Given the description of an element on the screen output the (x, y) to click on. 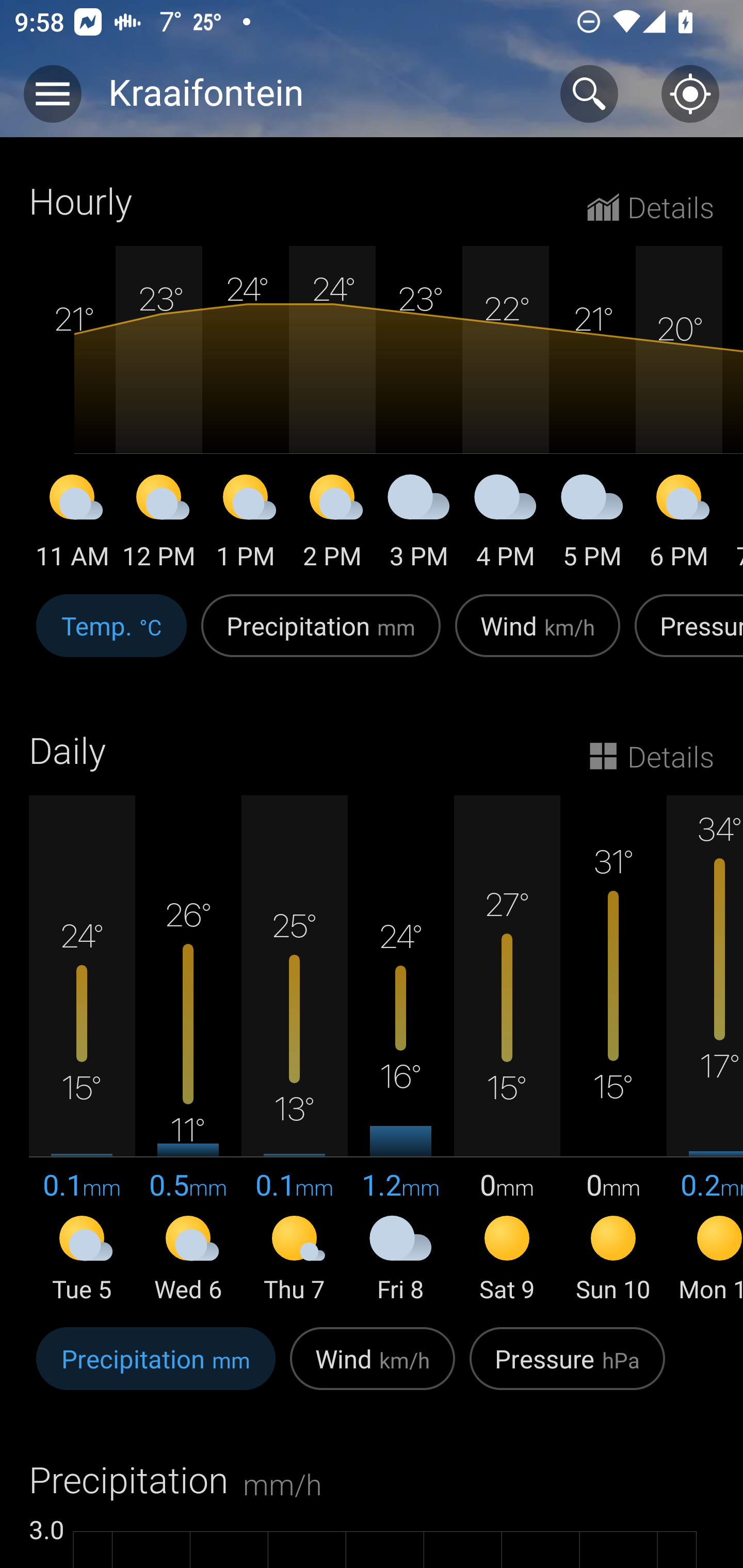
11 AM (71, 524)
12 PM (158, 524)
1 PM (245, 524)
2 PM (332, 524)
3 PM (418, 524)
4 PM (505, 524)
5 PM (592, 524)
6 PM (679, 524)
Temp. °C (110, 636)
Precipitation mm (320, 636)
Wind km/h (537, 636)
Pressure (685, 636)
24° 15° 0.1 mm Tue 5 (81, 1050)
26° 11° 0.5 mm Wed 6 (188, 1050)
25° 13° 0.1 mm Thu 7 (294, 1050)
24° 16° 1.2 mm Fri 8 (400, 1050)
27° 15° 0 mm Sat 9 (506, 1050)
31° 15° 0 mm Sun 10 (613, 1050)
34° 17° 0.2 mm Mon 11 (704, 1050)
Precipitation mm (155, 1369)
Wind km/h (372, 1369)
Pressure hPa (567, 1369)
